Given the description of an element on the screen output the (x, y) to click on. 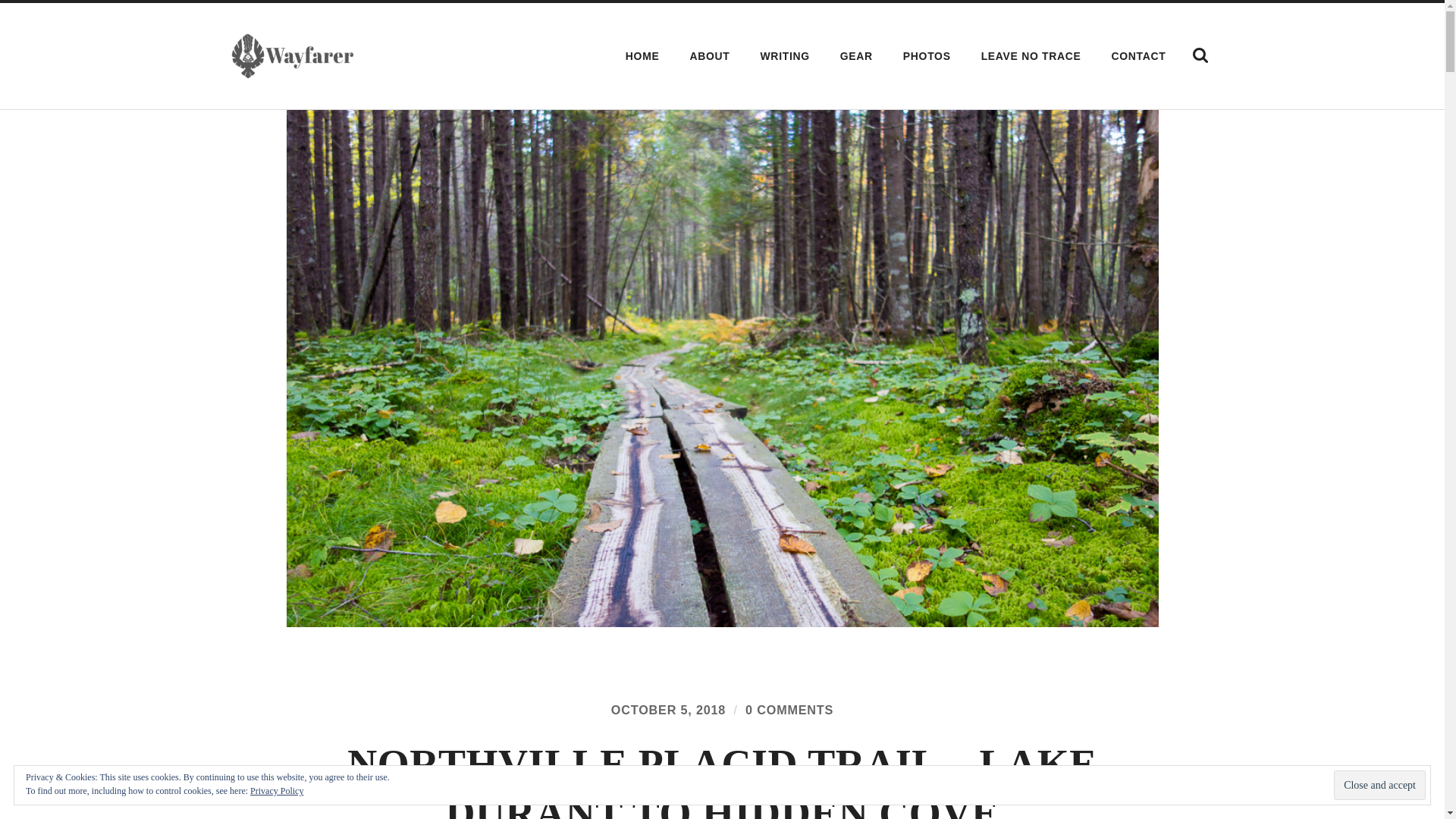
GEAR (855, 56)
PHOTOS (926, 56)
OCTOBER 5, 2018 (668, 709)
Wayfarer (291, 55)
Close and accept (1379, 785)
LEAVE NO TRACE (1031, 56)
0 COMMENTS (788, 709)
WRITING (785, 56)
HOME (642, 56)
ABOUT (709, 56)
